Given the description of an element on the screen output the (x, y) to click on. 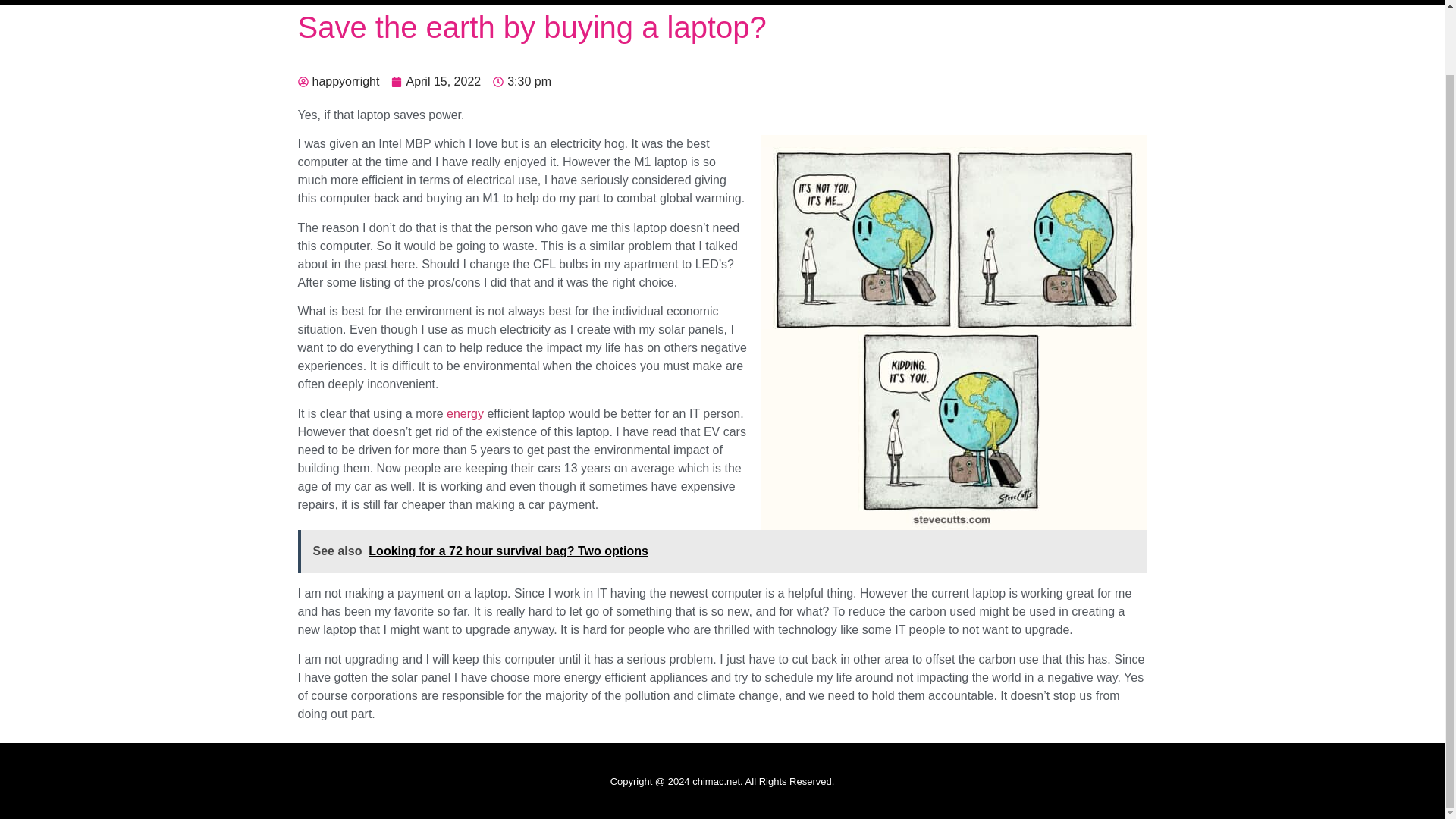
About Me (991, 2)
April 15, 2022 (435, 81)
happyorright (337, 81)
Resources (1072, 2)
energy (464, 413)
See also  Looking for a 72 hour survival bag? Two options (722, 550)
